Given the description of an element on the screen output the (x, y) to click on. 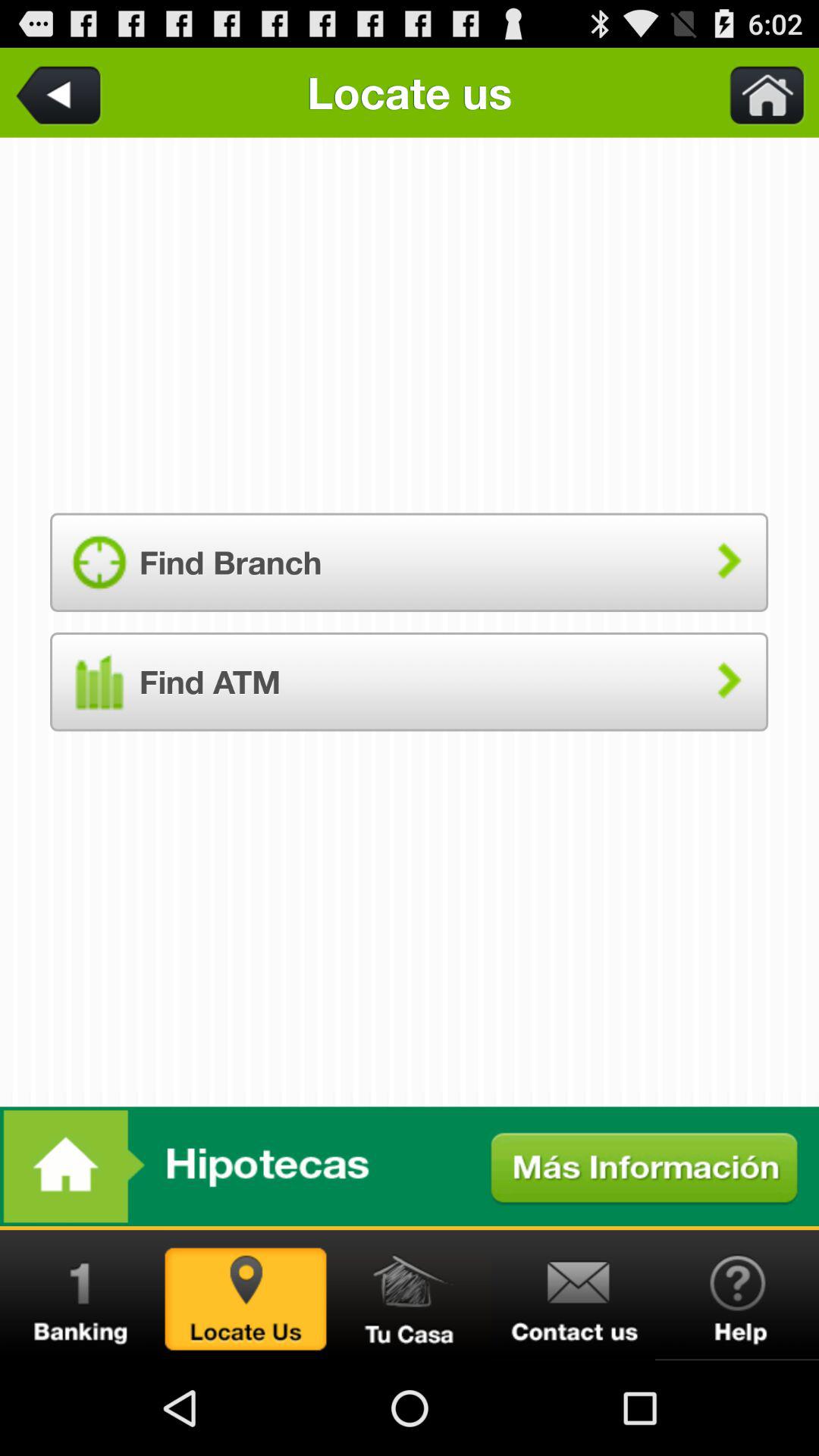
home (757, 92)
